Given the description of an element on the screen output the (x, y) to click on. 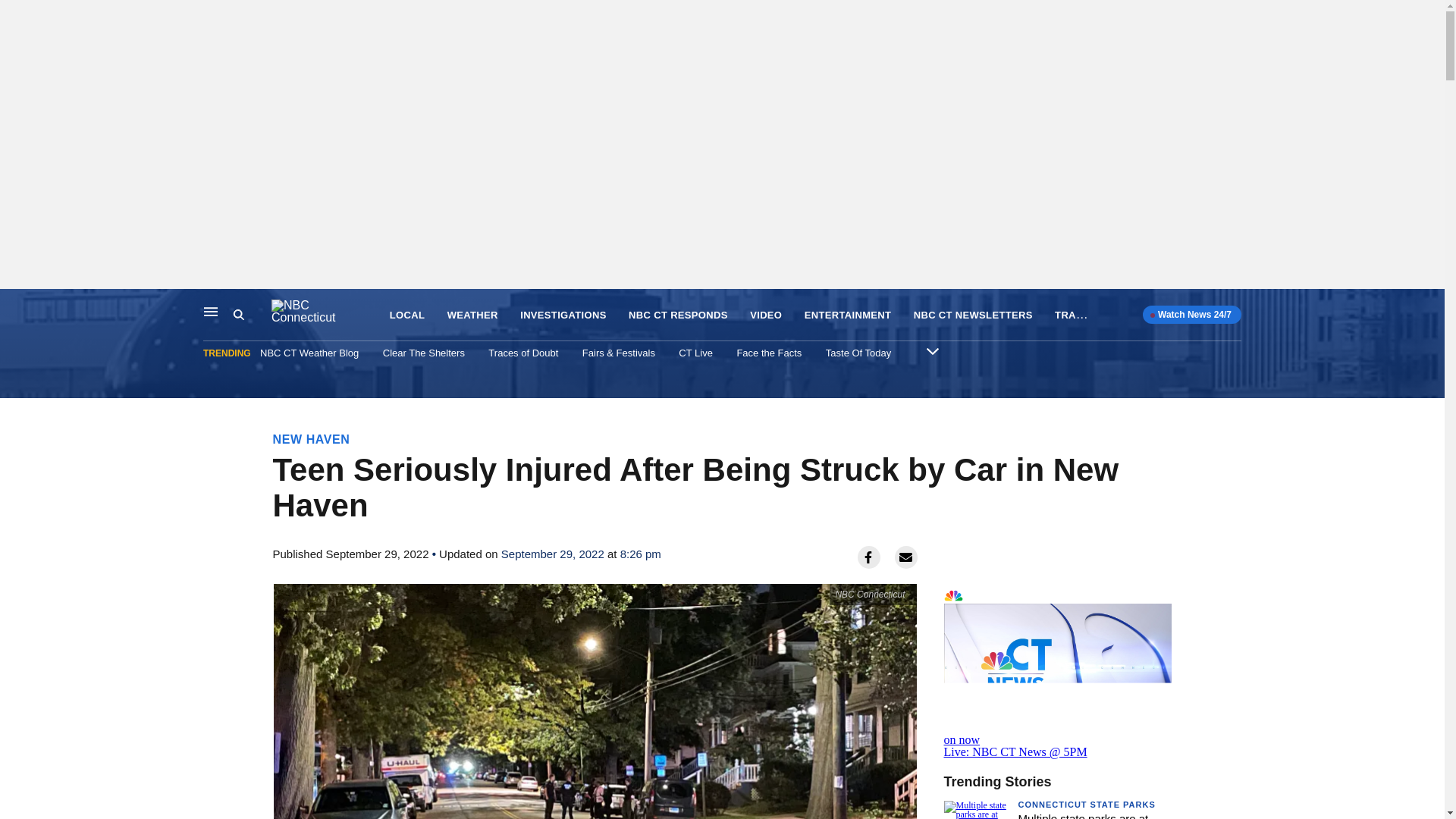
WEATHER (471, 315)
ENTERTAINMENT (848, 315)
INVESTIGATIONS (562, 315)
NEW HAVEN (311, 439)
Multiple state parks are at capacity on Labor Day (1082, 815)
CONNECTICUT STATE PARKS (1085, 804)
Expand (932, 350)
NBC CT Weather Blog (309, 352)
Taste Of Today (858, 352)
Main Navigation (210, 311)
